Given the description of an element on the screen output the (x, y) to click on. 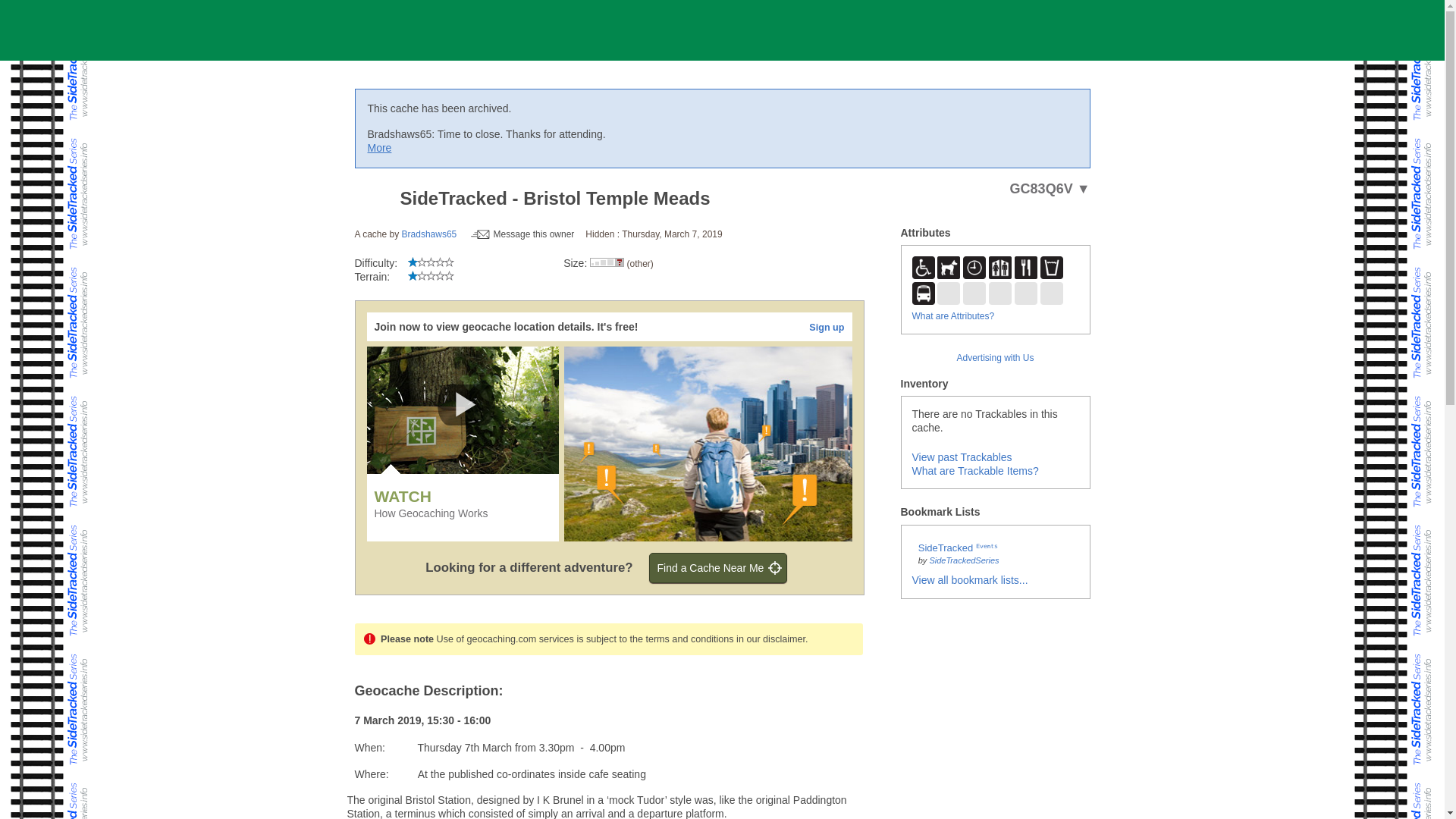
Size: other (606, 261)
blank (948, 292)
Public transportation nearby (922, 292)
View all bookmark lists... (969, 580)
Drinking water nearby (1051, 267)
Takes less than one hour (973, 267)
blank (1025, 292)
Dogs allowed (948, 267)
Event Cache (373, 198)
Bradshaws65 (429, 234)
Message this owner (522, 234)
Food nearby (1025, 267)
Find a Cache Near Me (718, 567)
Find a Cache Near Me (718, 567)
Advertising with Us (994, 357)
